Given the description of an element on the screen output the (x, y) to click on. 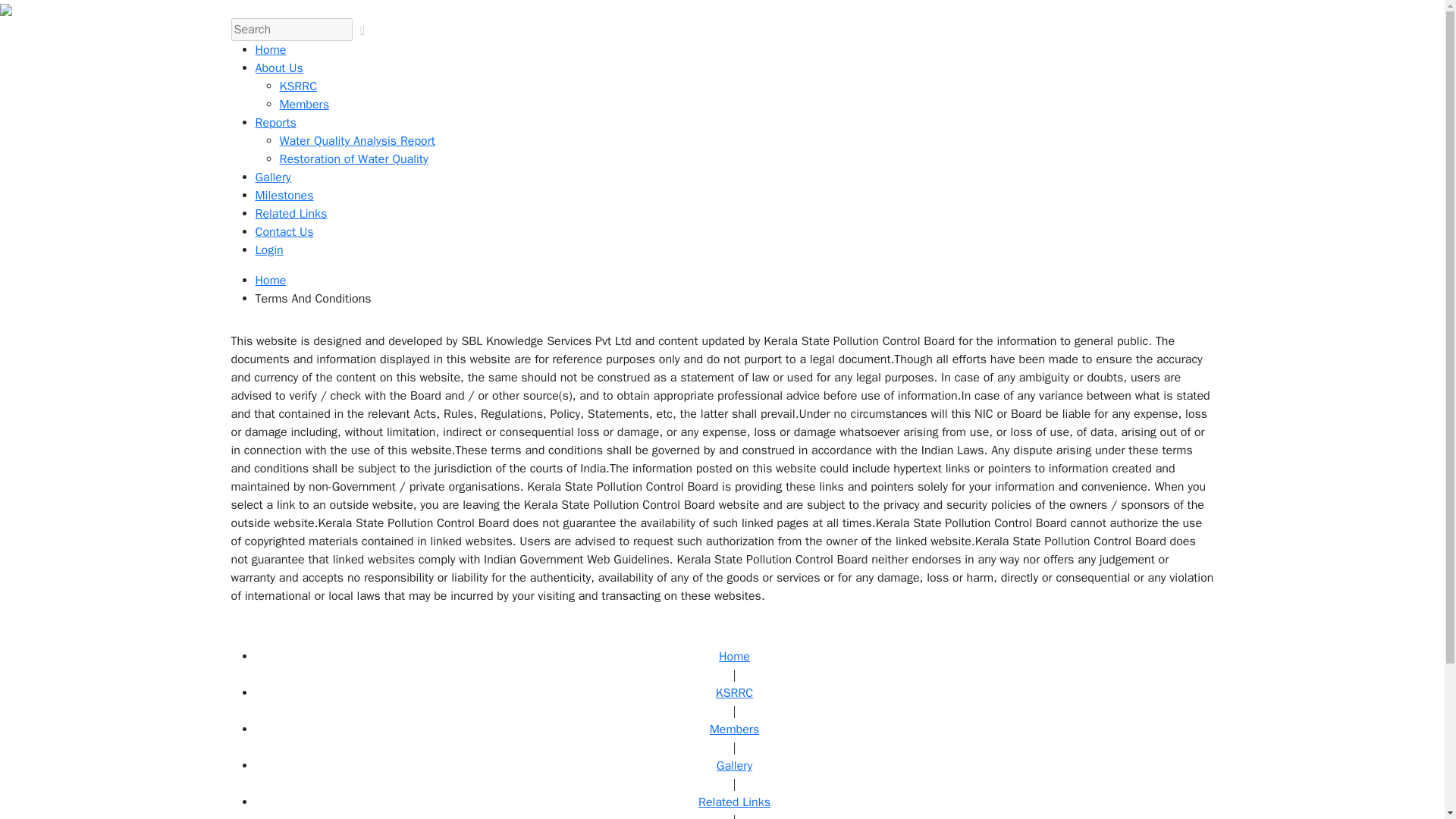
Milestones (283, 195)
Restoration of Water Quality (353, 159)
Members (304, 104)
Home (269, 280)
Members (735, 729)
Water Quality Analysis Report (356, 140)
About Us (278, 68)
Gallery (271, 177)
Contact Us (283, 231)
KSRRC (298, 86)
